Given the description of an element on the screen output the (x, y) to click on. 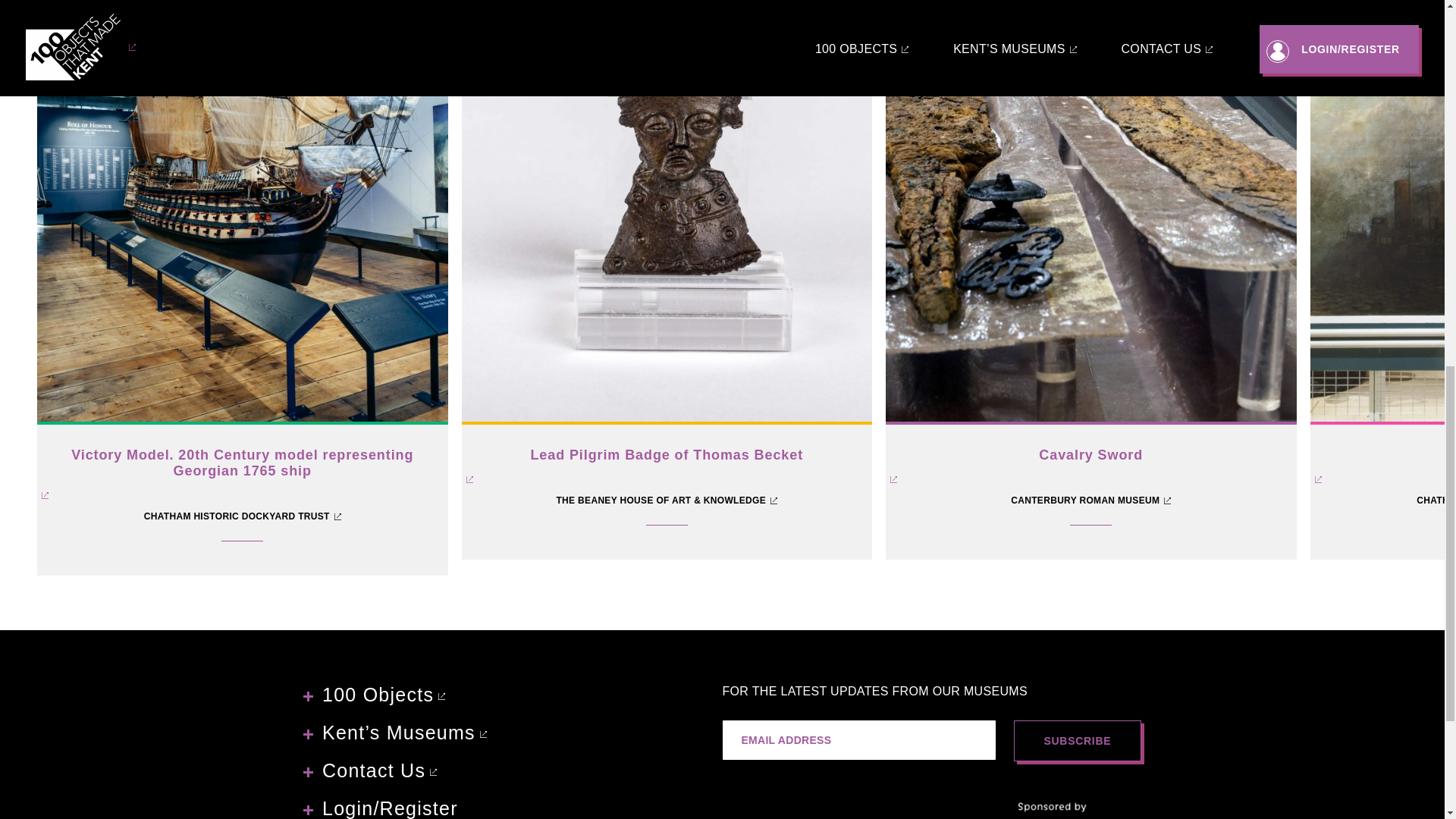
CHATHAM HISTORIC DOCKYARD TRUST (242, 516)
CANTERBURY ROMAN MUSEUM (1090, 500)
100 Objects (373, 694)
